Given the description of an element on the screen output the (x, y) to click on. 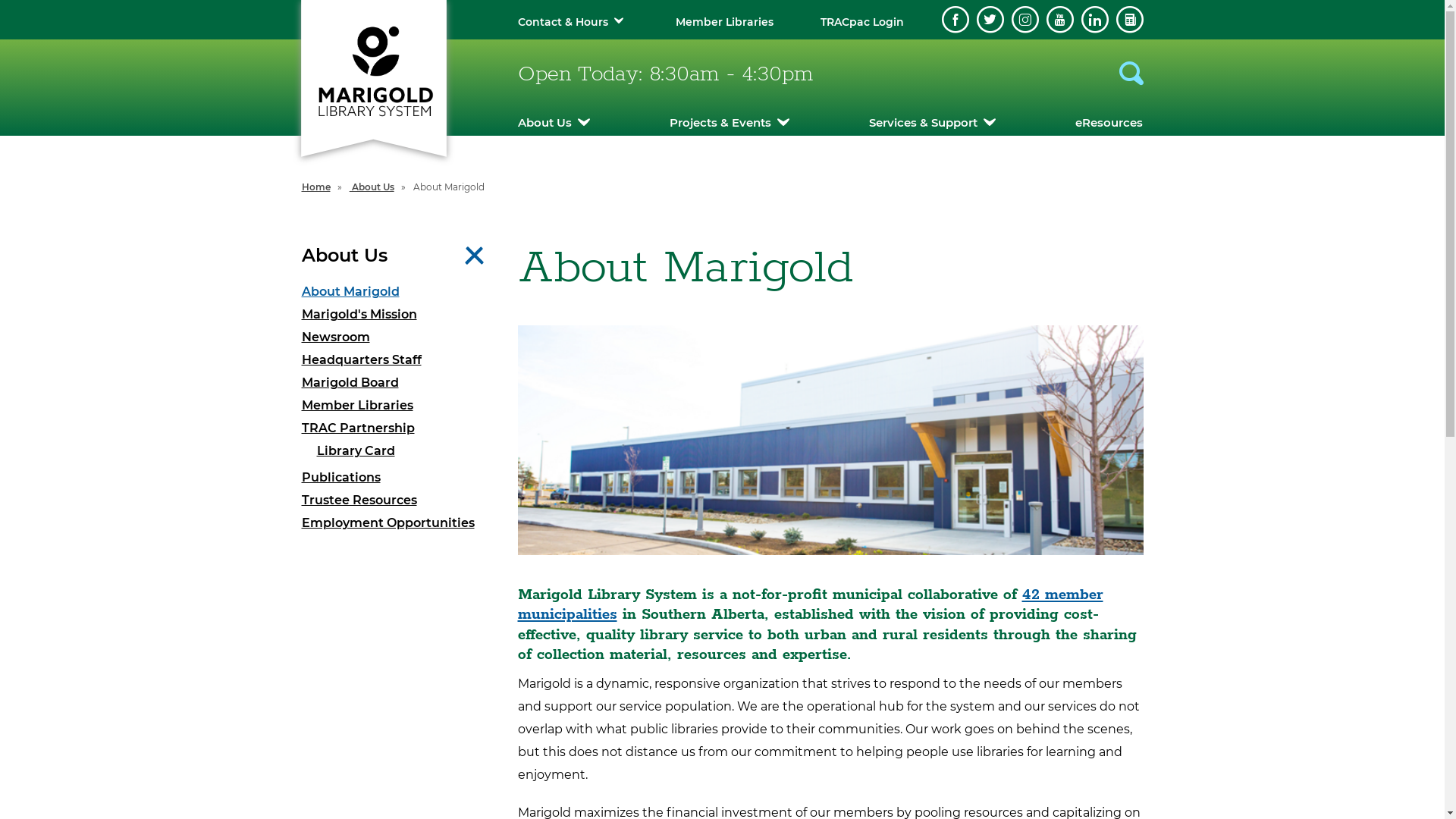
Member Libraries Element type: text (724, 21)
Instagram Element type: hover (1024, 19)
Youtube Element type: hover (1059, 19)
Headquarters Staff Element type: text (398, 359)
About Us Element type: text (553, 122)
Trustee Resources Element type: text (398, 500)
Marigold Board Element type: text (398, 382)
Library Card Element type: text (405, 450)
TRAC Partnership Element type: text (398, 428)
Publications Element type: text (398, 477)
Services & Support Element type: text (932, 122)
Twitter Element type: hover (990, 19)
Facebook Element type: hover (955, 19)
About Us
Toggle navigation Element type: text (398, 255)
Employment Opportunities Element type: text (398, 522)
Marigold's Mission Element type: text (398, 314)
TRACpac Login Element type: text (861, 21)
Projects & Events Element type: text (729, 122)
Member Libraries Element type: text (398, 405)
LinkedIn Element type: hover (1094, 19)
Contact & Hours Element type: text (562, 21)
eResources Element type: text (1108, 122)
Newsletter sign up Element type: hover (1129, 19)
Marigold Library System Element type: hover (372, 69)
Newsroom Element type: text (398, 337)
About Us Element type: text (371, 186)
42 member municipalities Element type: text (809, 604)
About Marigold Element type: text (398, 291)
Home Element type: text (315, 186)
